Given the description of an element on the screen output the (x, y) to click on. 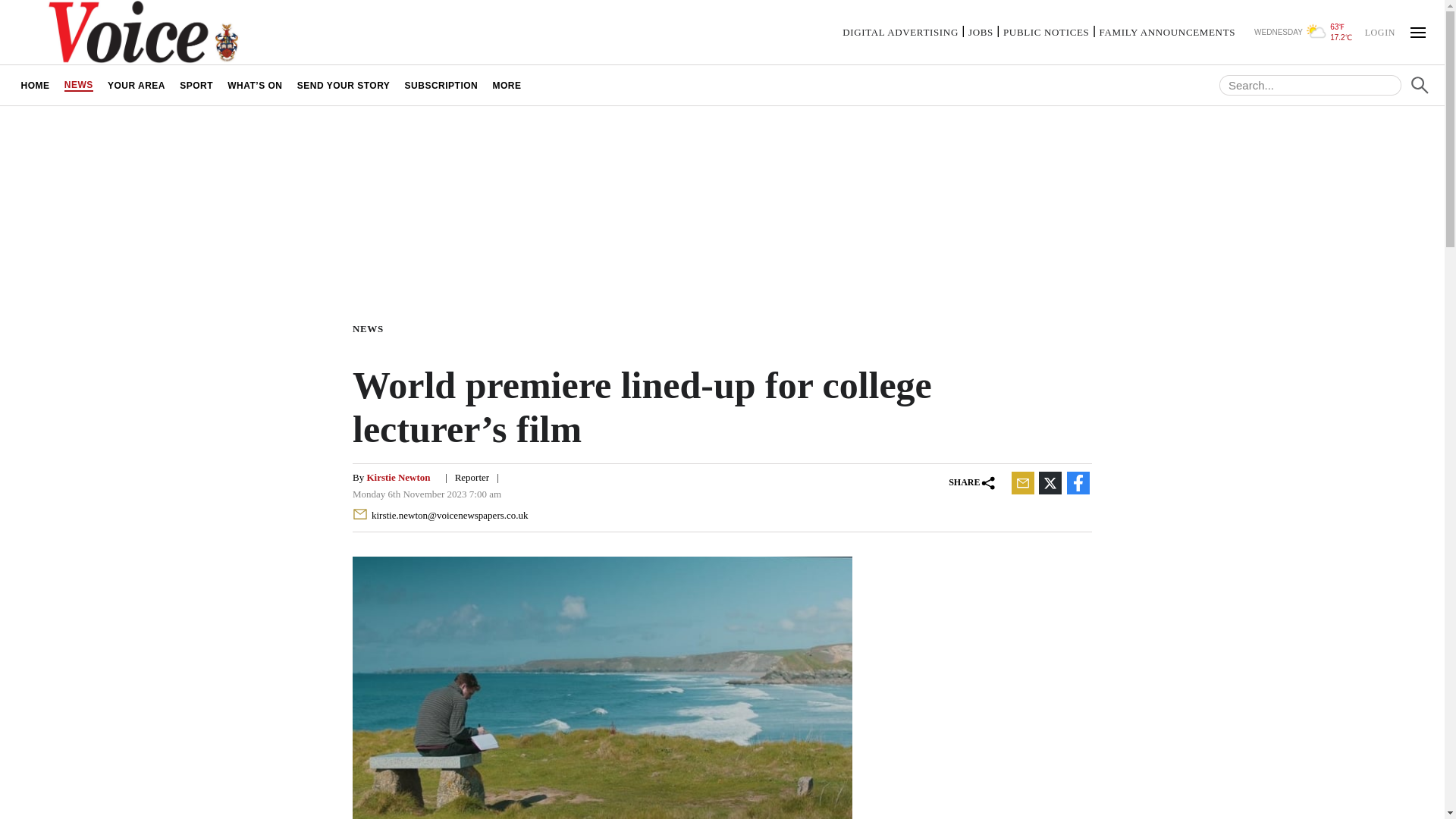
NEWS (78, 85)
MORE (506, 85)
LOGIN (1379, 31)
SPORT (197, 85)
SUBSCRIPTION (440, 85)
SEND YOUR STORY (343, 85)
HOME (34, 85)
FAMILY ANNOUNCEMENTS (1166, 32)
Kirstie Newton (397, 477)
YOUR AREA (135, 85)
